Given the description of an element on the screen output the (x, y) to click on. 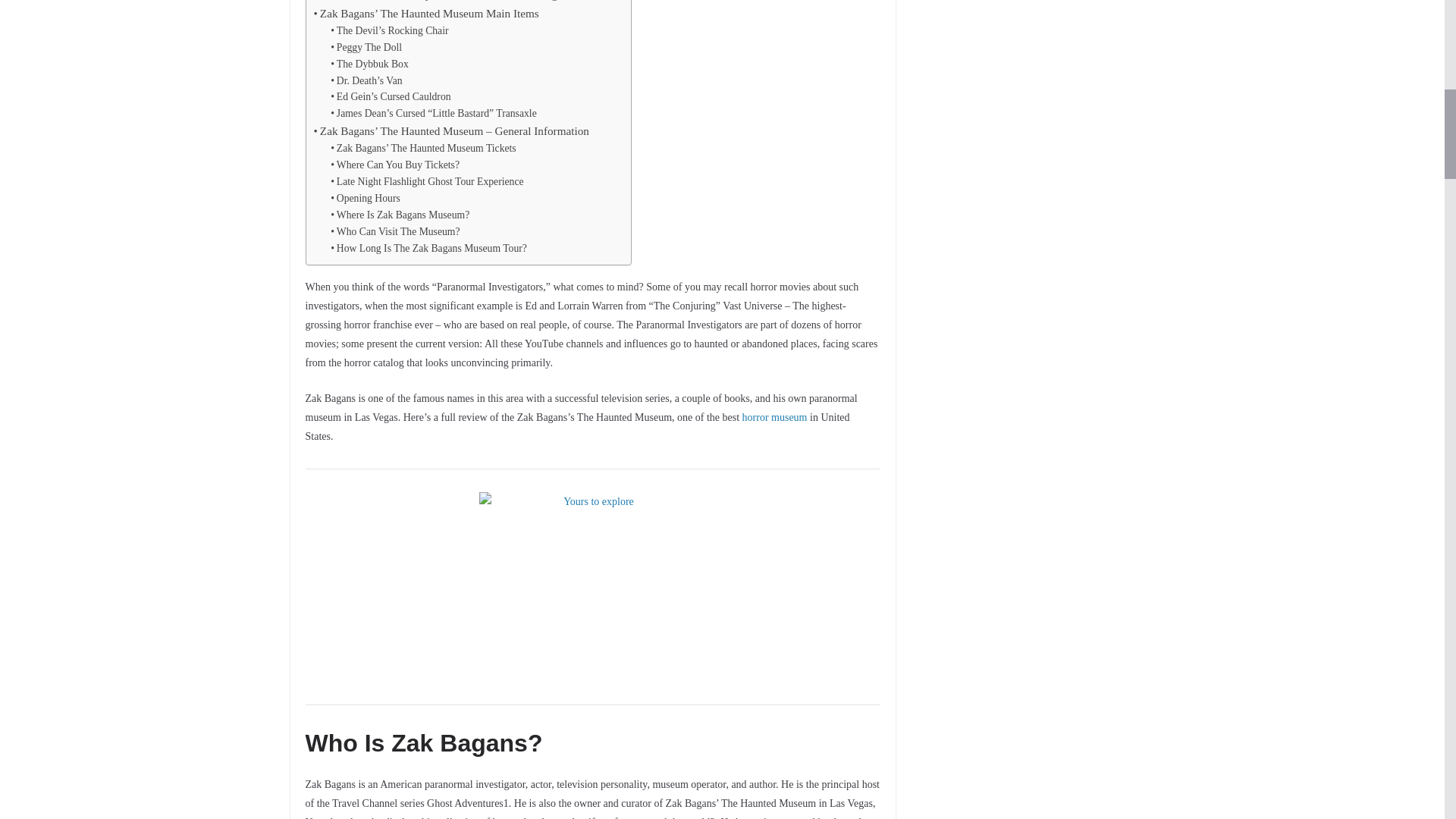
The Dybbuk Box (368, 64)
The Paranormal History Comes To Life In Zak Bagans Museum (464, 2)
